Given the description of an element on the screen output the (x, y) to click on. 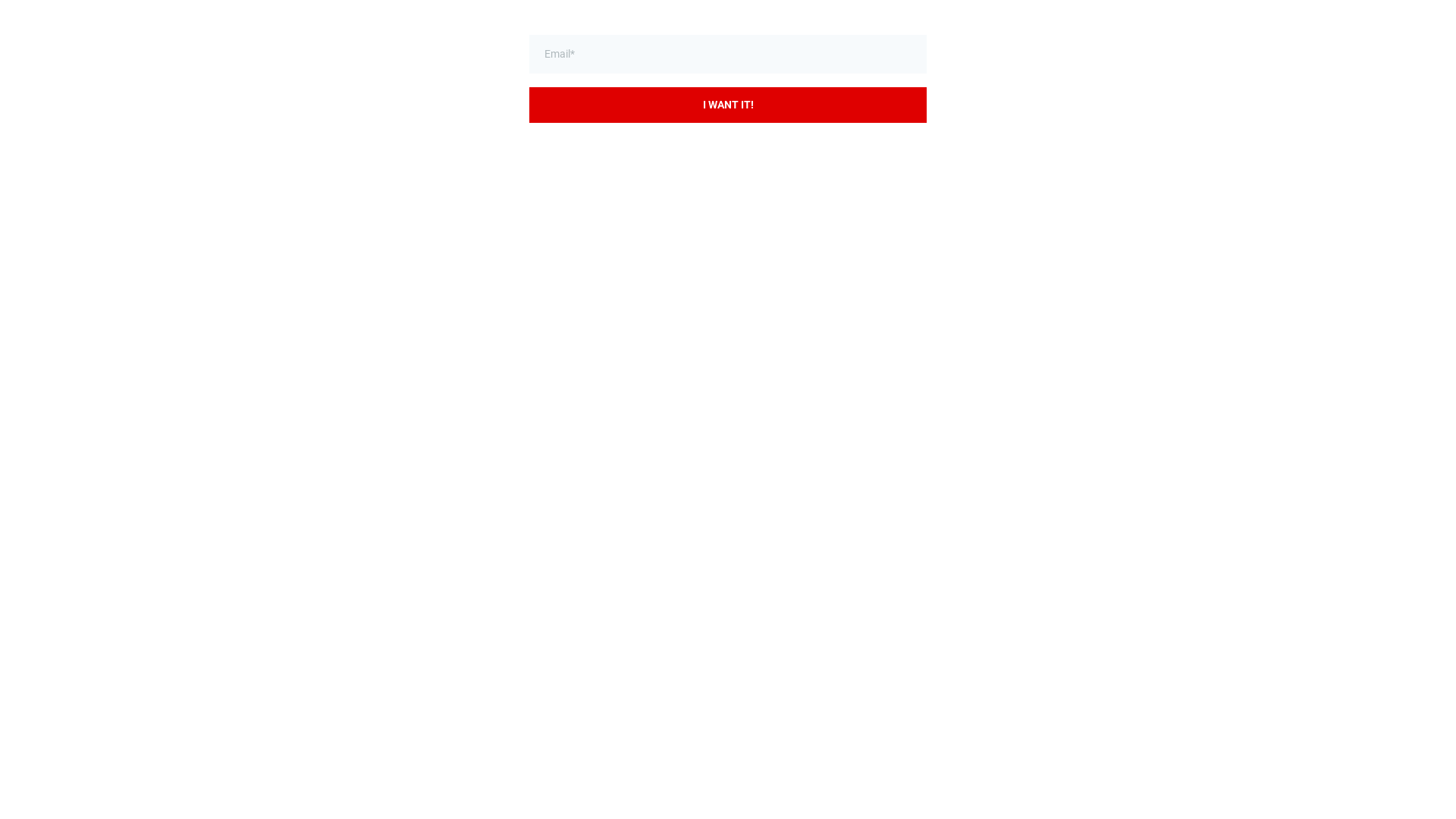
I WANT IT! Element type: text (727, 104)
